Given the description of an element on the screen output the (x, y) to click on. 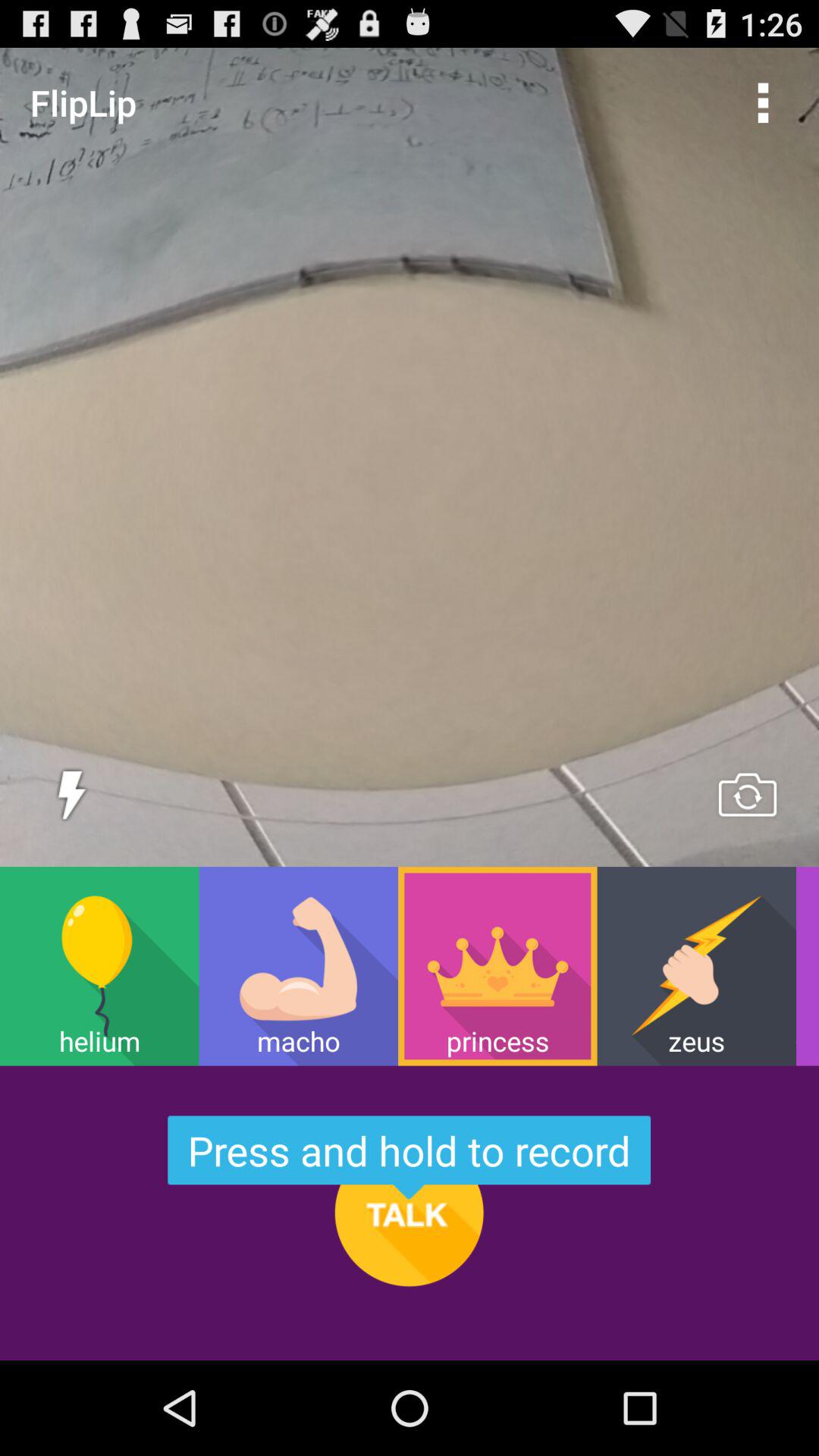
press the icon to the right of the macho item (497, 965)
